Given the description of an element on the screen output the (x, y) to click on. 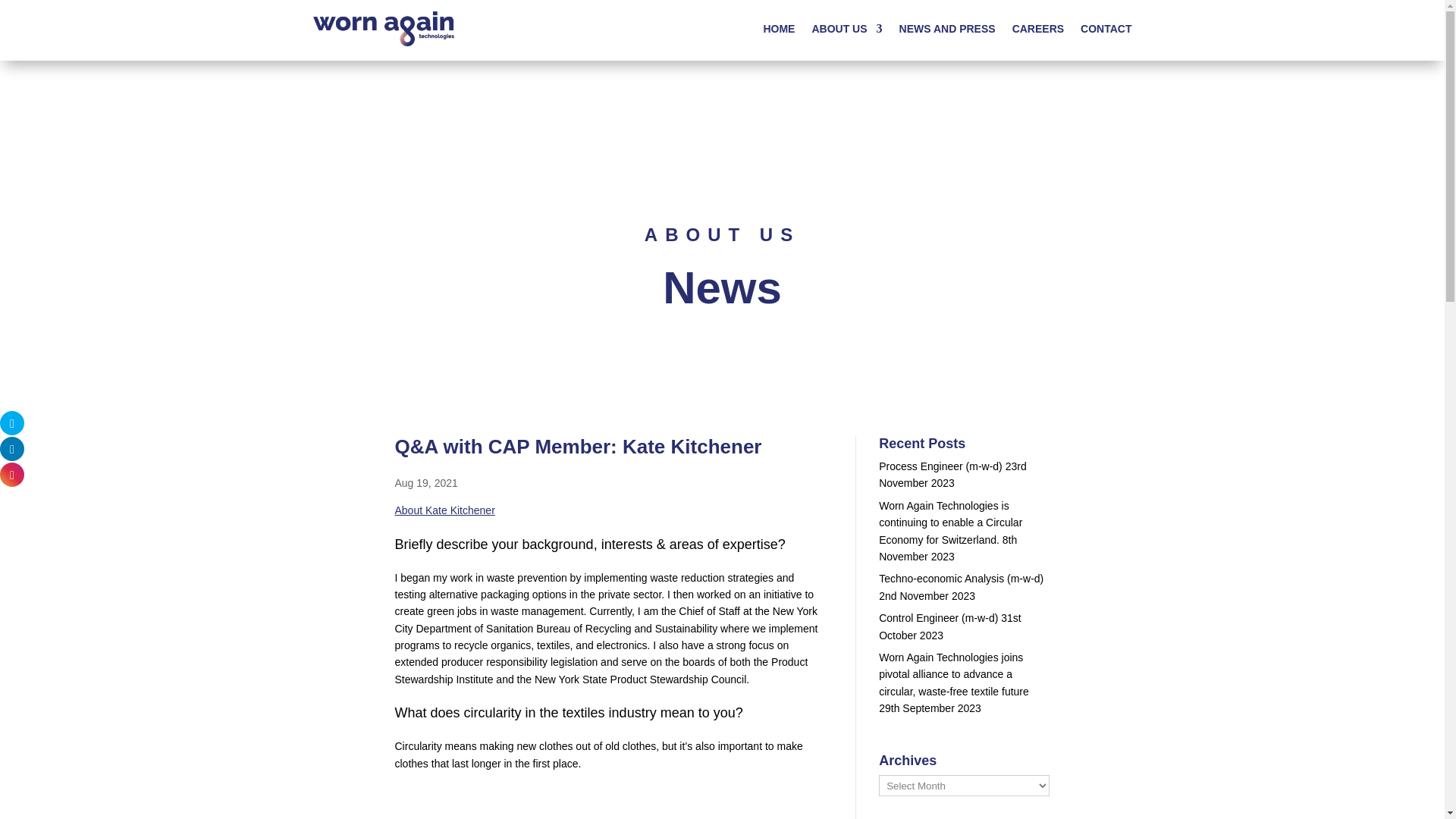
ABOUT US (846, 28)
CAREERS (1037, 28)
NEWS AND PRESS (947, 28)
About Kate Kitchener (444, 510)
